Given the description of an element on the screen output the (x, y) to click on. 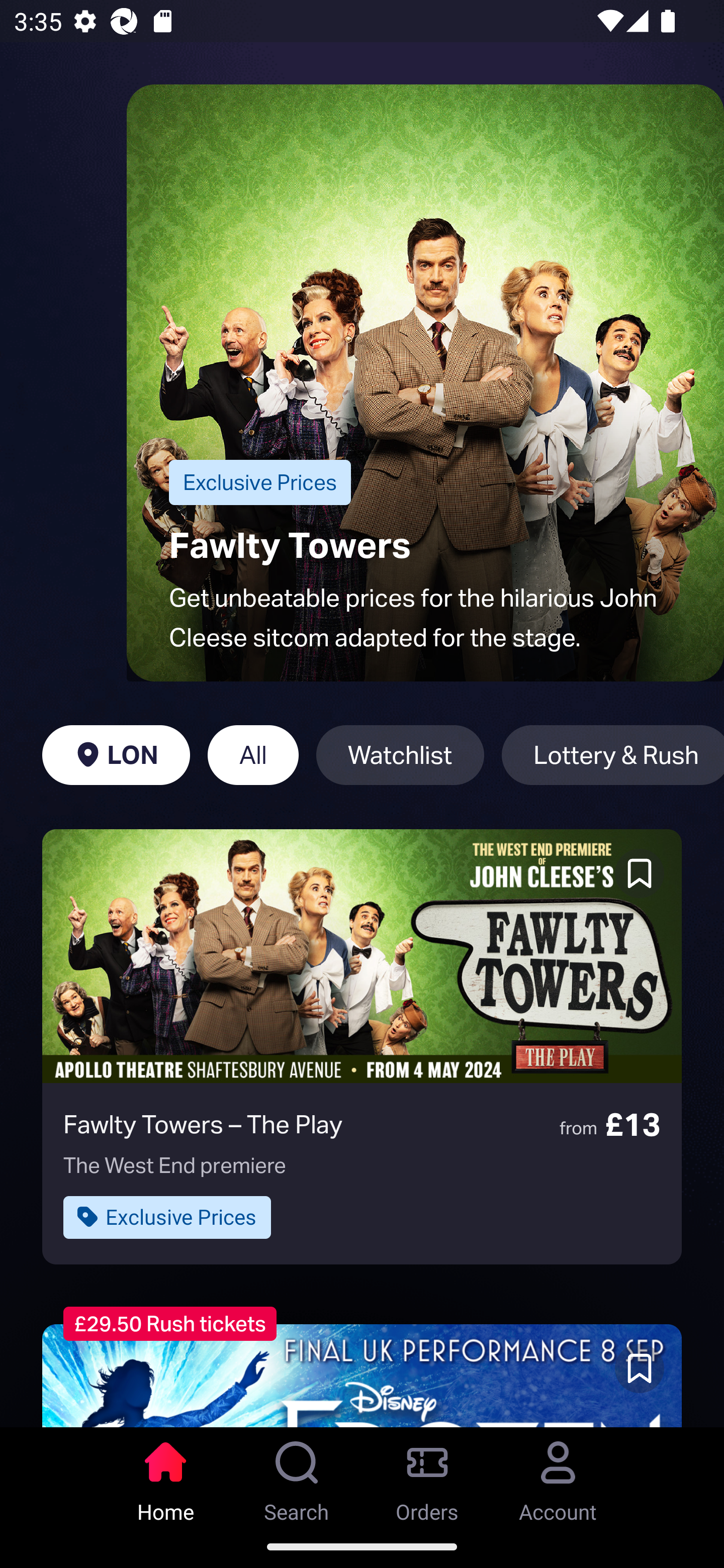
LON (115, 754)
All (252, 754)
Watchlist (400, 754)
Lottery & Rush (612, 754)
Search (296, 1475)
Orders (427, 1475)
Account (558, 1475)
